Given the description of an element on the screen output the (x, y) to click on. 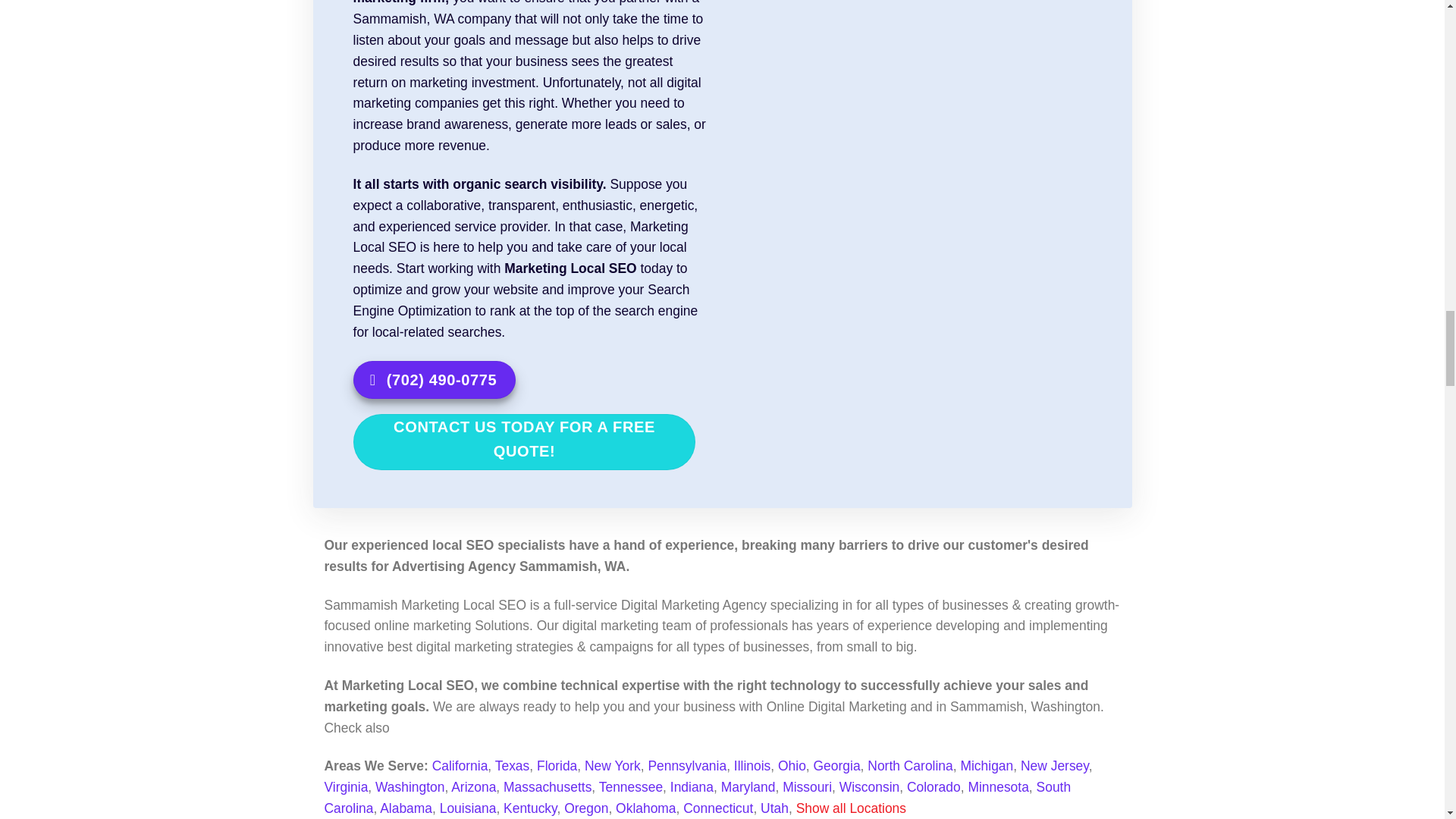
Florida (556, 765)
CONTACT US TODAY FOR A FREE QUOTE! (524, 442)
New York (612, 765)
Pennsylvania (686, 765)
California (459, 765)
Texas (512, 765)
Illinois (751, 765)
